Given the description of an element on the screen output the (x, y) to click on. 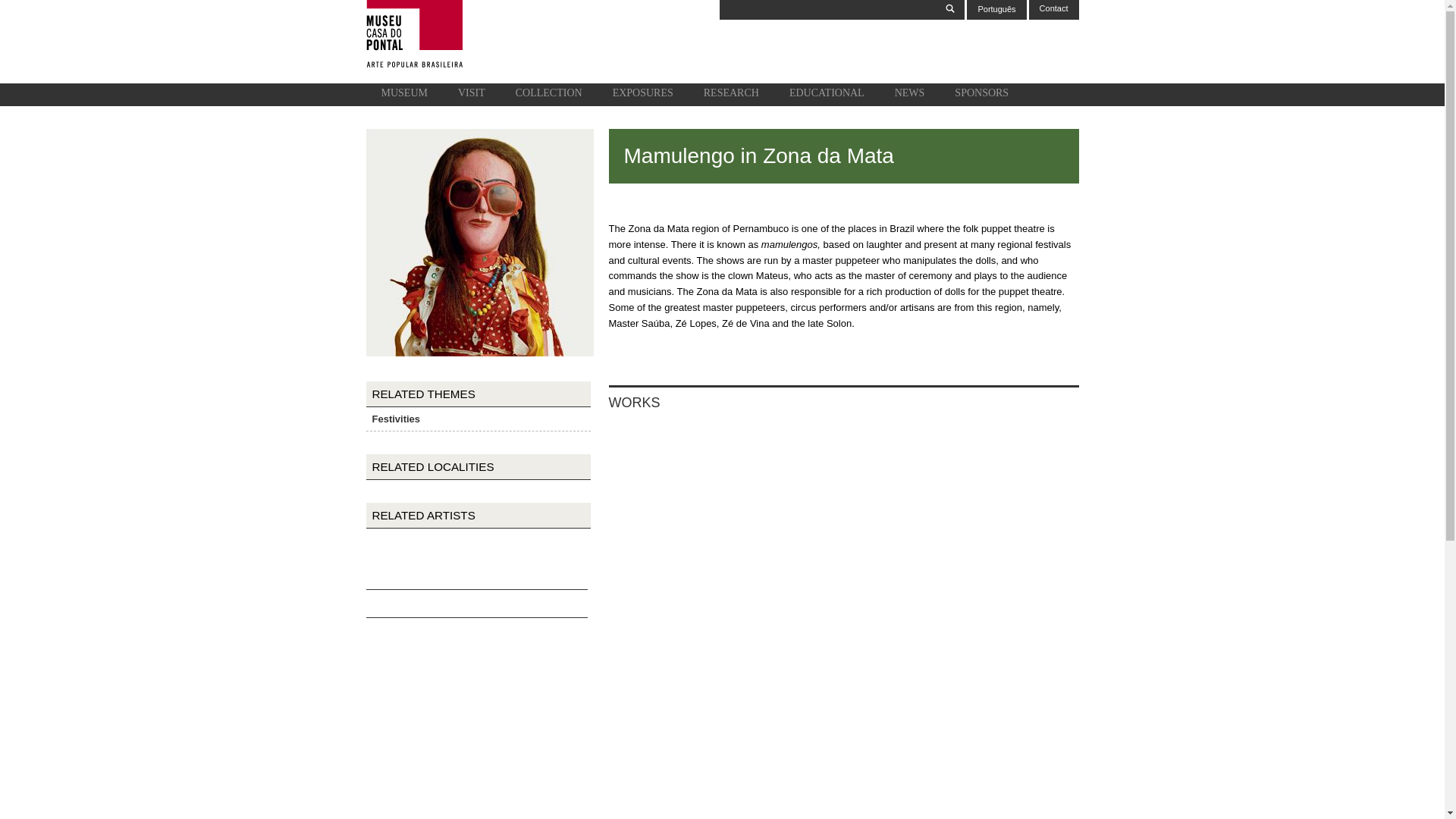
EXPOSURES (642, 94)
Festivities (395, 419)
NEWS (909, 94)
COLLECTION (548, 94)
EDUCATIONAL (826, 94)
Enter the terms you wish to search for. (828, 9)
Mamulengo na Zona da Mata (995, 8)
SPONSORS (981, 94)
RESEARCH (731, 94)
Search (950, 9)
MUSEUM (403, 94)
Tweet (460, 602)
Search (950, 9)
Home (413, 65)
VISIT (471, 94)
